Given the description of an element on the screen output the (x, y) to click on. 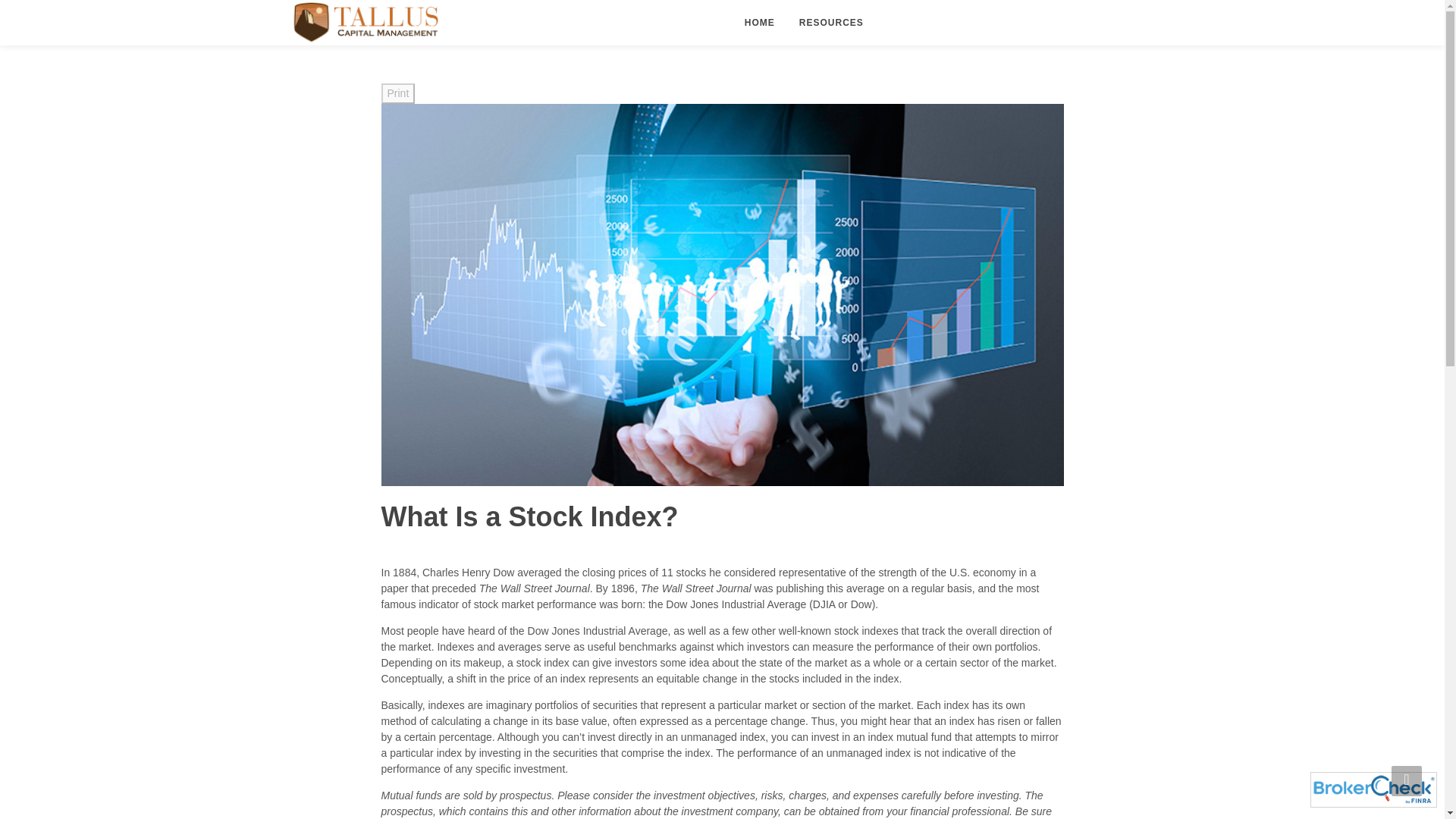
Print (397, 93)
RESOURCES (831, 22)
HOME (759, 22)
